Given the description of an element on the screen output the (x, y) to click on. 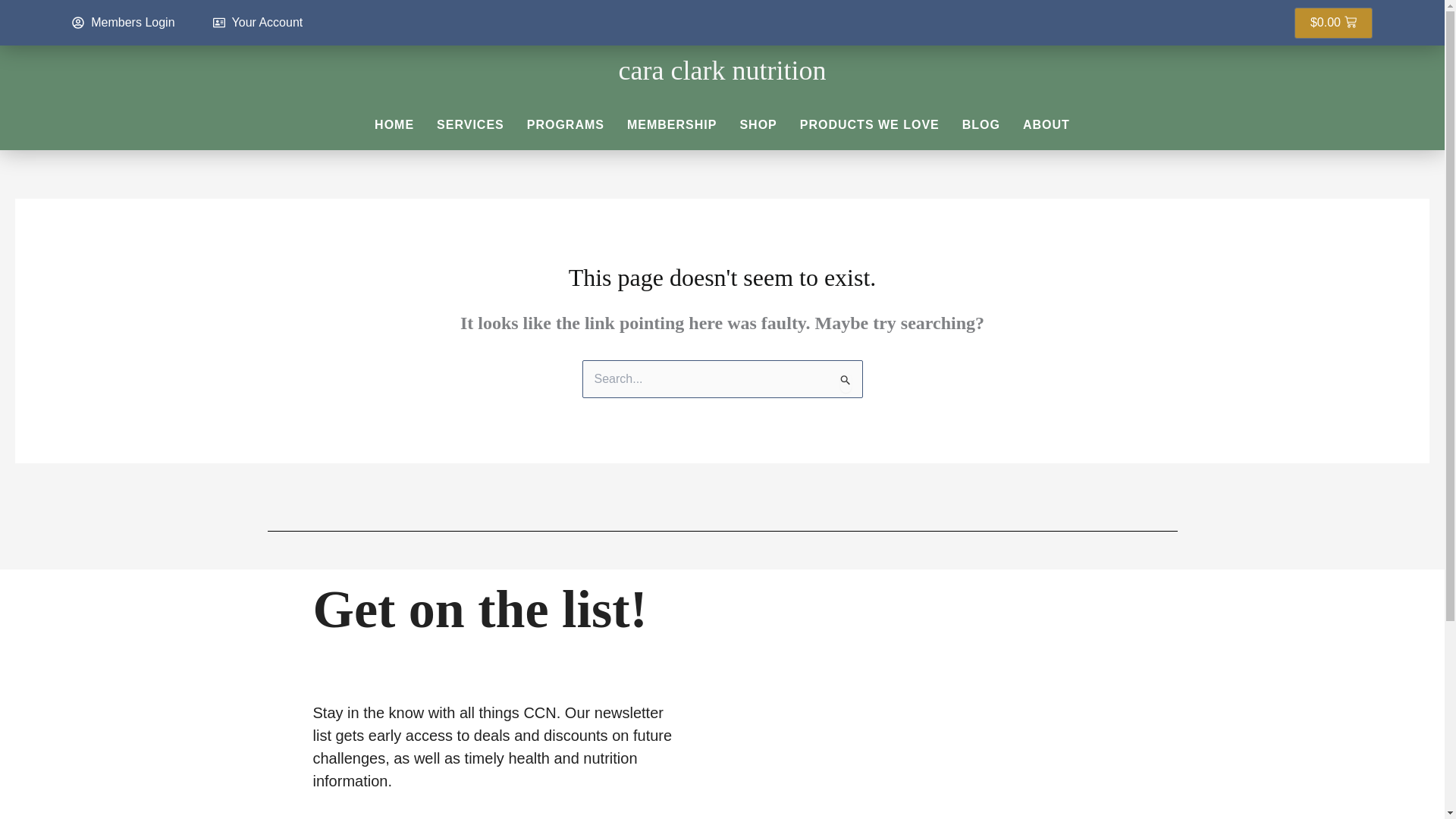
MEMBERSHIP (671, 124)
SERVICES (470, 124)
Members Login (122, 22)
BLOG (980, 124)
PRODUCTS WE LOVE (869, 124)
ABOUT (1046, 124)
cara clark nutrition (722, 70)
SHOP (757, 124)
Your Account (257, 22)
PROGRAMS (565, 124)
